Given the description of an element on the screen output the (x, y) to click on. 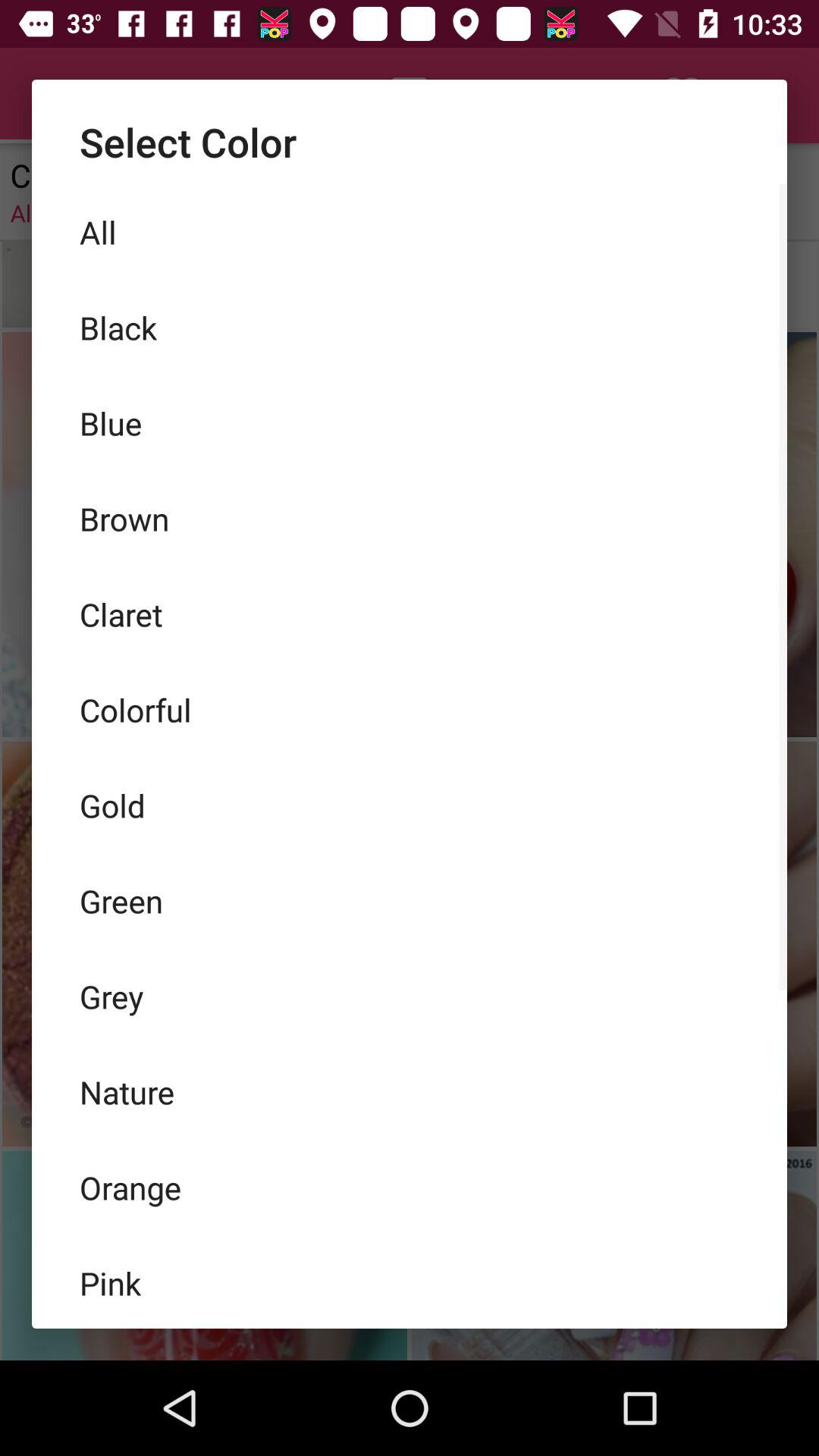
choose item above the brown item (409, 422)
